Given the description of an element on the screen output the (x, y) to click on. 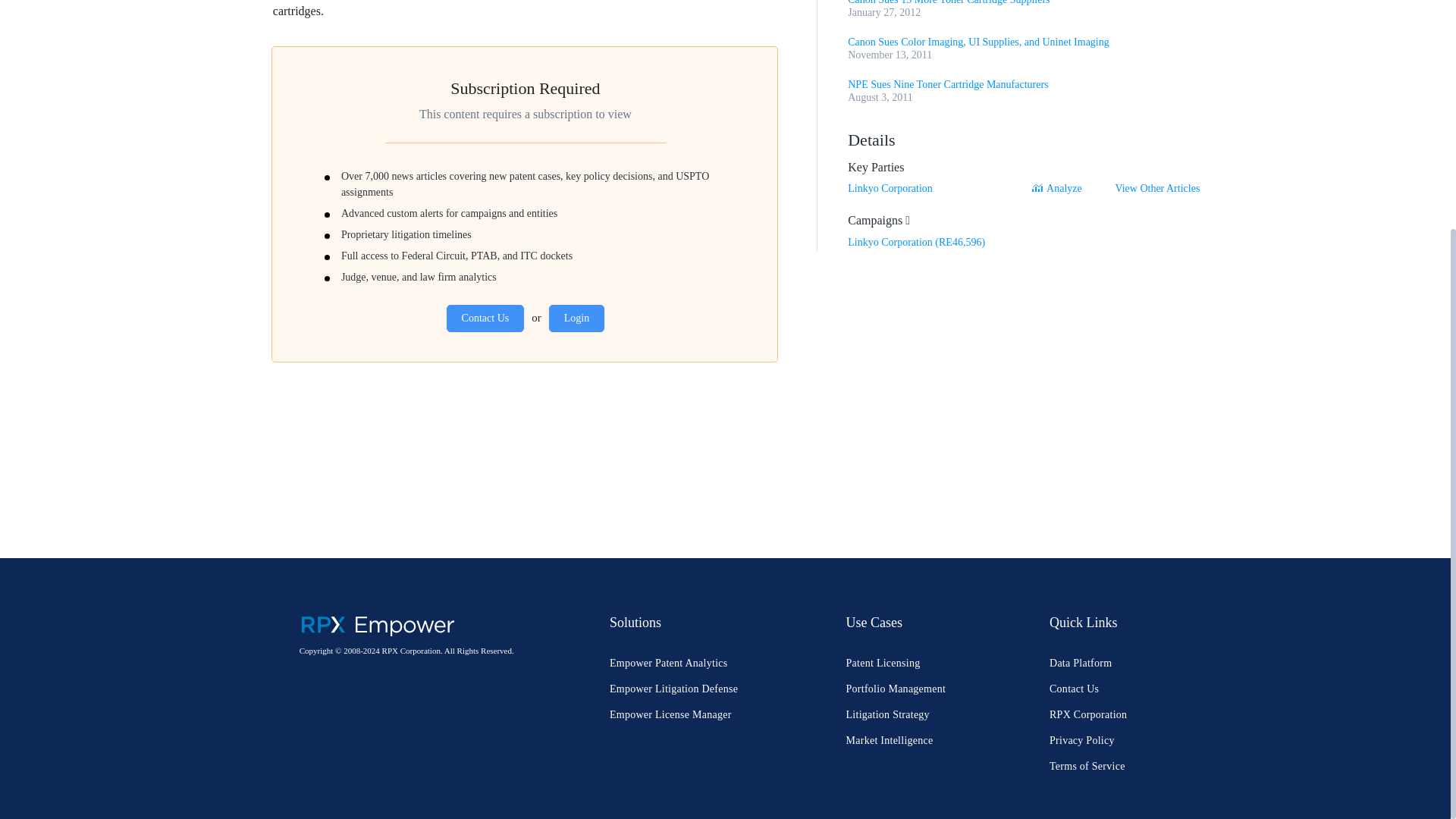
Analyze (1060, 188)
Canon Sues Color Imaging, UI Supplies, and Uninet Imaging (978, 41)
Contact Us (485, 318)
Canon Sues 15 More Toner Cartridge Suppliers (948, 2)
Login (576, 318)
NPE Sues Nine Toner Cartridge Manufacturers (947, 84)
Linkyo Corporation (890, 188)
View Other Articles (1157, 188)
